Given the description of an element on the screen output the (x, y) to click on. 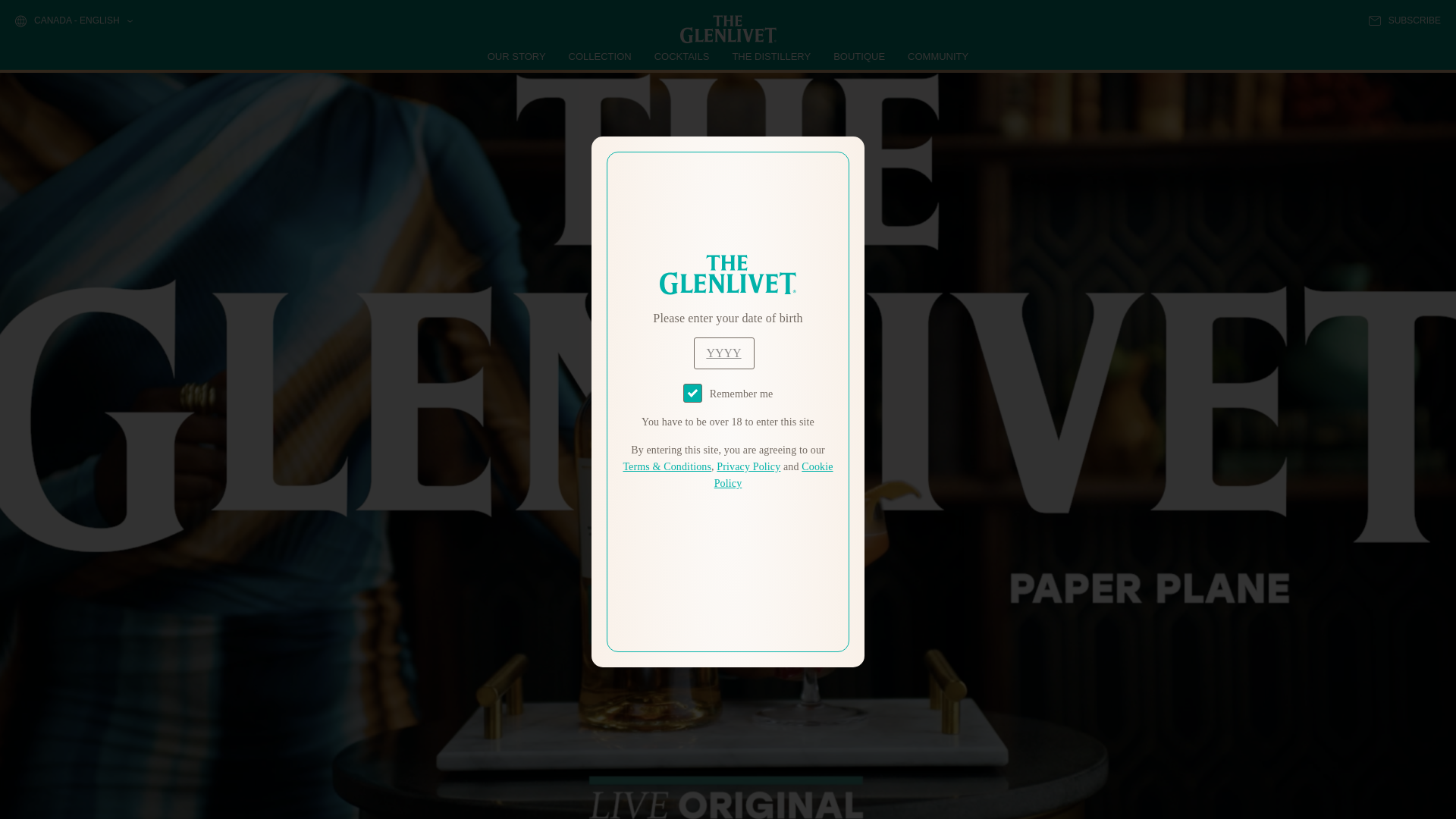
SUBSCRIBE (1404, 20)
CANADA - ENGLISH (73, 21)
COMMUNITY (937, 56)
OUR STORY (516, 56)
year (723, 353)
Cookie Policy (773, 474)
COCKTAILS (681, 56)
Privacy Policy (748, 466)
BOUTIQUE (858, 56)
COLLECTION (600, 56)
THE DISTILLERY (771, 56)
